Given the description of an element on the screen output the (x, y) to click on. 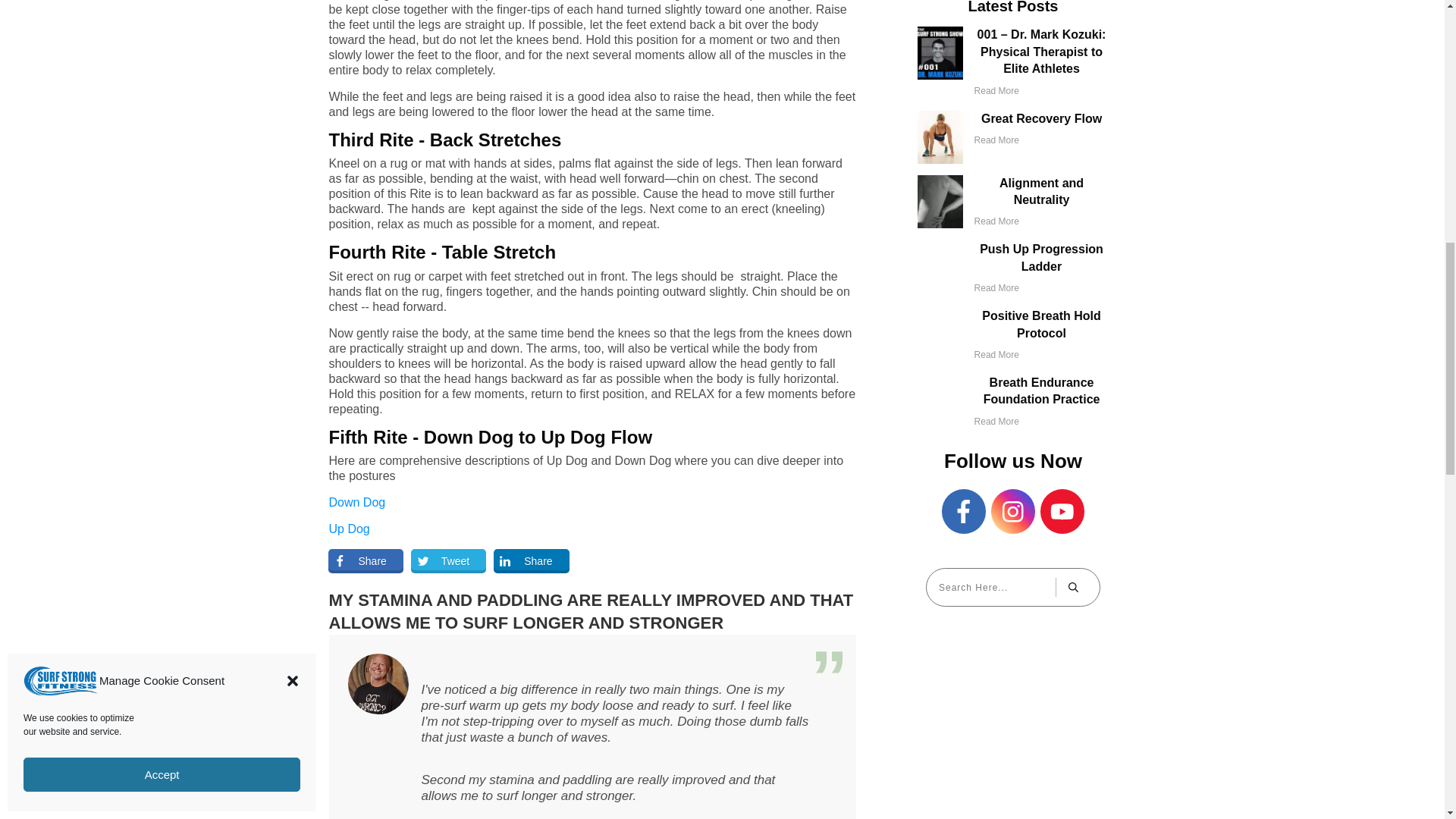
Down Dog (357, 502)
Read More (996, 354)
Share (365, 560)
Share (531, 560)
Push Up Progression Ladder (1041, 256)
Push Up Progression Ladder (1041, 256)
Positive Breath Hold Protocol (1040, 324)
Alignment and Neutrality (1040, 191)
Read More (996, 140)
Breath Endurance Foundation Practice (1042, 390)
Alignment and Neutrality (1040, 191)
Read More (996, 287)
Read More (996, 221)
Read More (996, 90)
Great Recovery Flow (1041, 118)
